Given the description of an element on the screen output the (x, y) to click on. 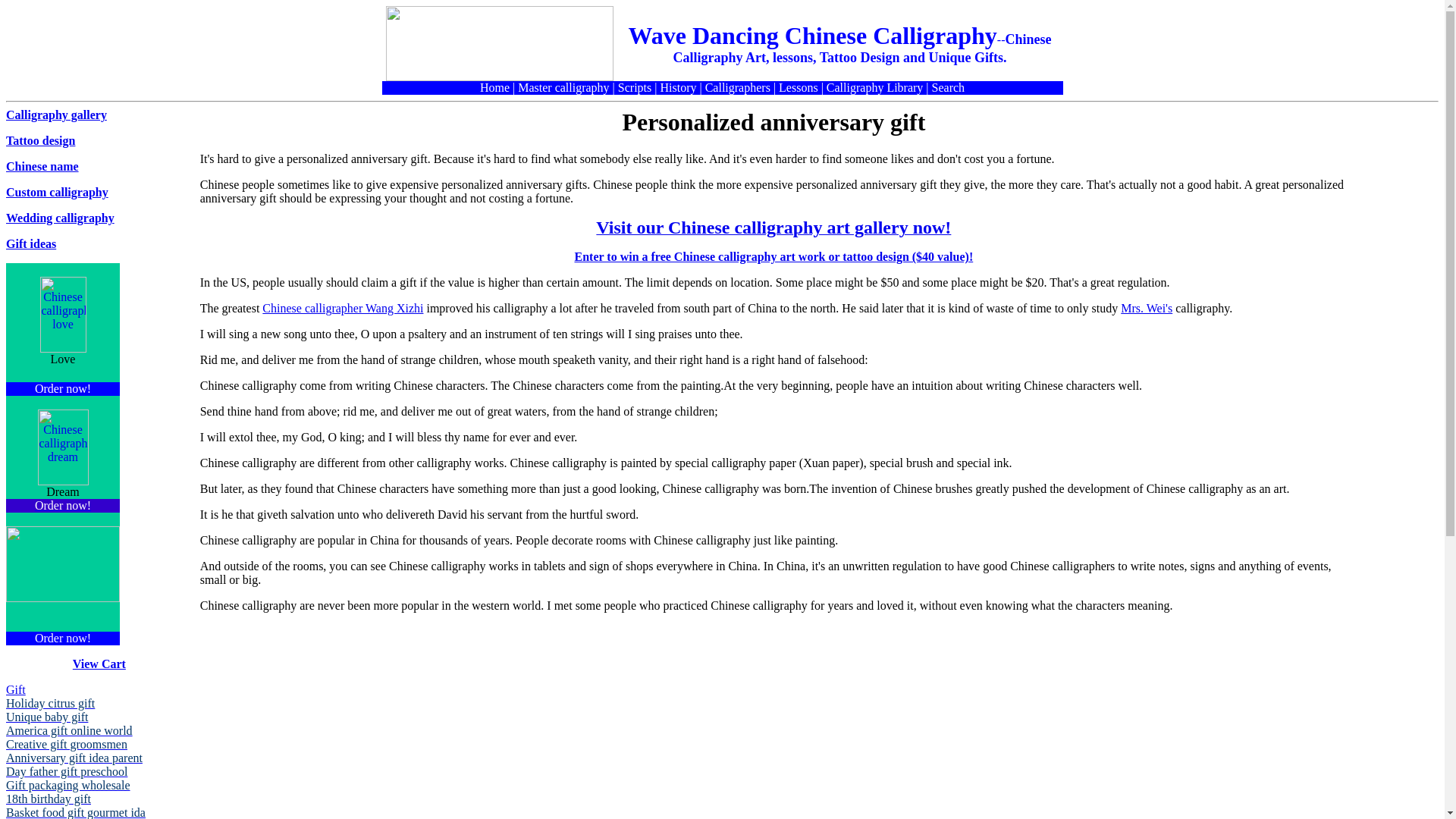
Creative gift groomsmen (66, 744)
Unique baby gift (46, 716)
Master calligraphy (563, 87)
America gift online world (68, 730)
Order now! (62, 388)
Gift (15, 689)
18th birthday gift (47, 798)
Tattoo design (40, 140)
History (677, 87)
Calligraphy gallery (55, 114)
Home (494, 87)
Gift packaging wholesale (68, 784)
Basket food gift gourmet ida (75, 812)
Holiday citrus gift (49, 703)
Chinese name (41, 165)
